Given the description of an element on the screen output the (x, y) to click on. 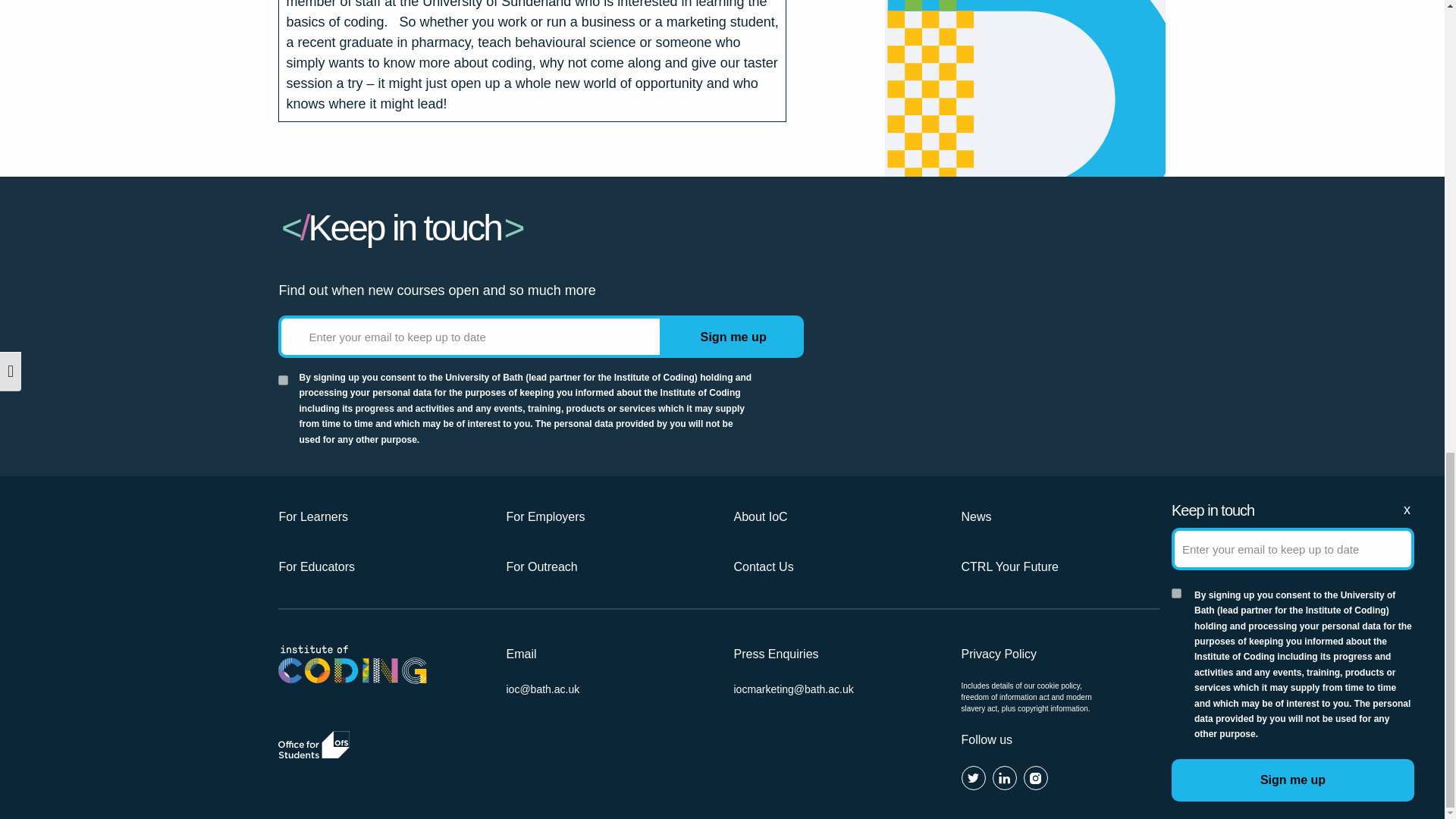
Sign me up (732, 336)
Sign me up (732, 336)
For Learners (380, 516)
For Educators (380, 566)
